Given the description of an element on the screen output the (x, y) to click on. 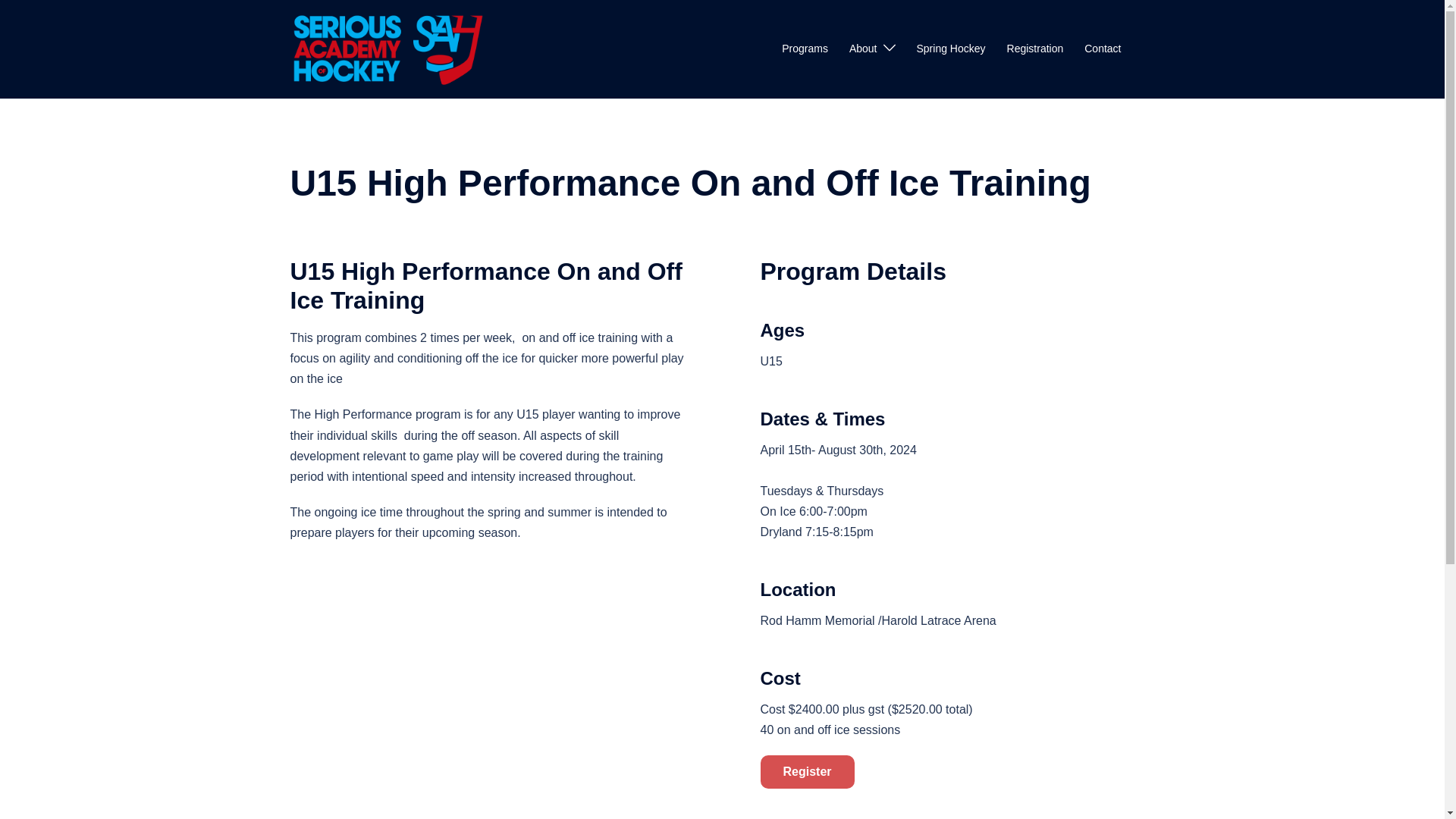
Serious Academy of Hockey (388, 47)
Spring Hockey (950, 49)
About (862, 49)
Programs (804, 49)
Contact (1102, 49)
Register (806, 771)
Registration (1035, 49)
